Given the description of an element on the screen output the (x, y) to click on. 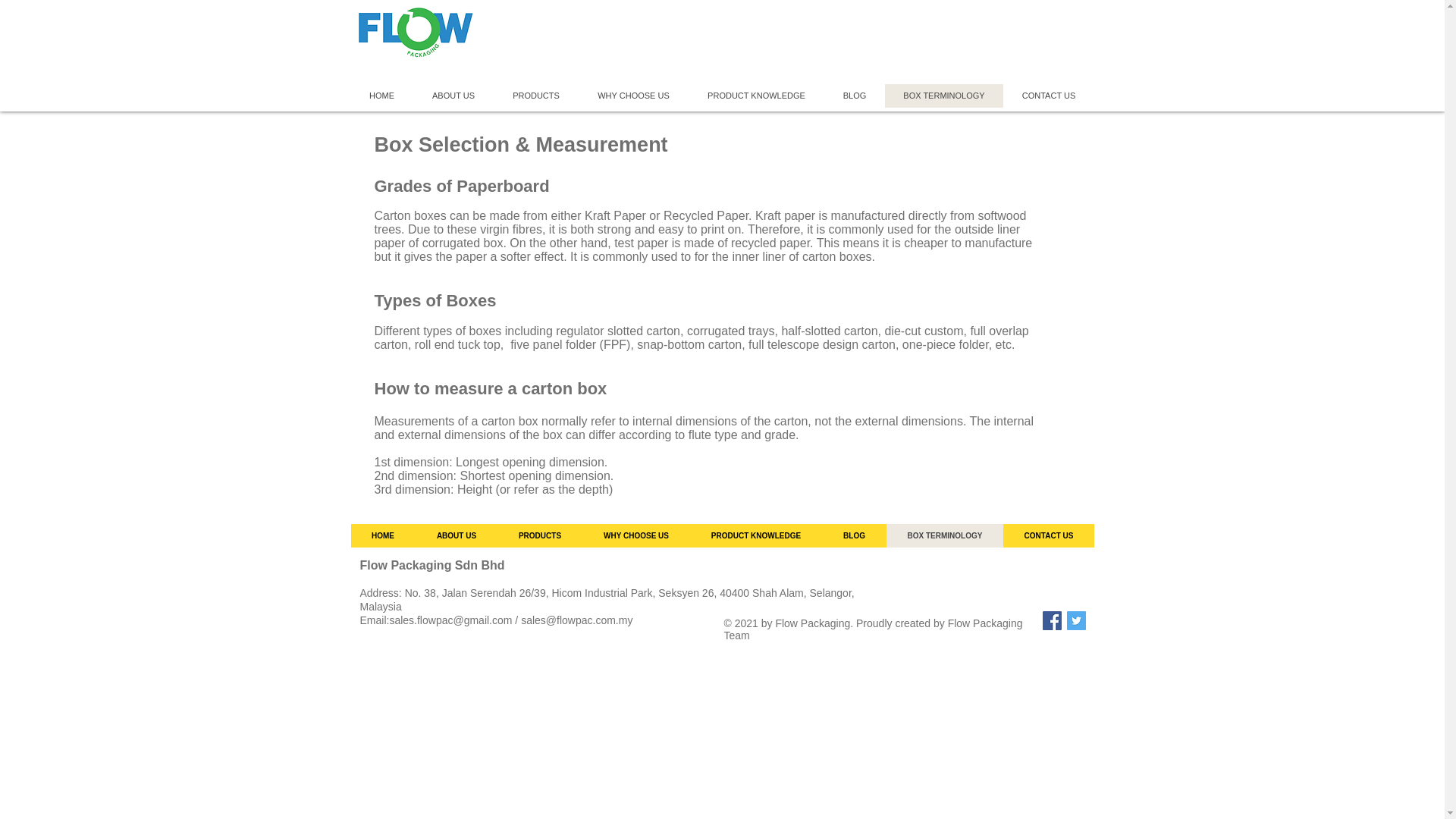
PRODUCTS (535, 95)
PRODUCT KNOWLEDGE (756, 95)
WHY CHOOSE US (632, 95)
ABOUT US (452, 95)
Flow Packaging (415, 32)
HOME (381, 95)
